Given the description of an element on the screen output the (x, y) to click on. 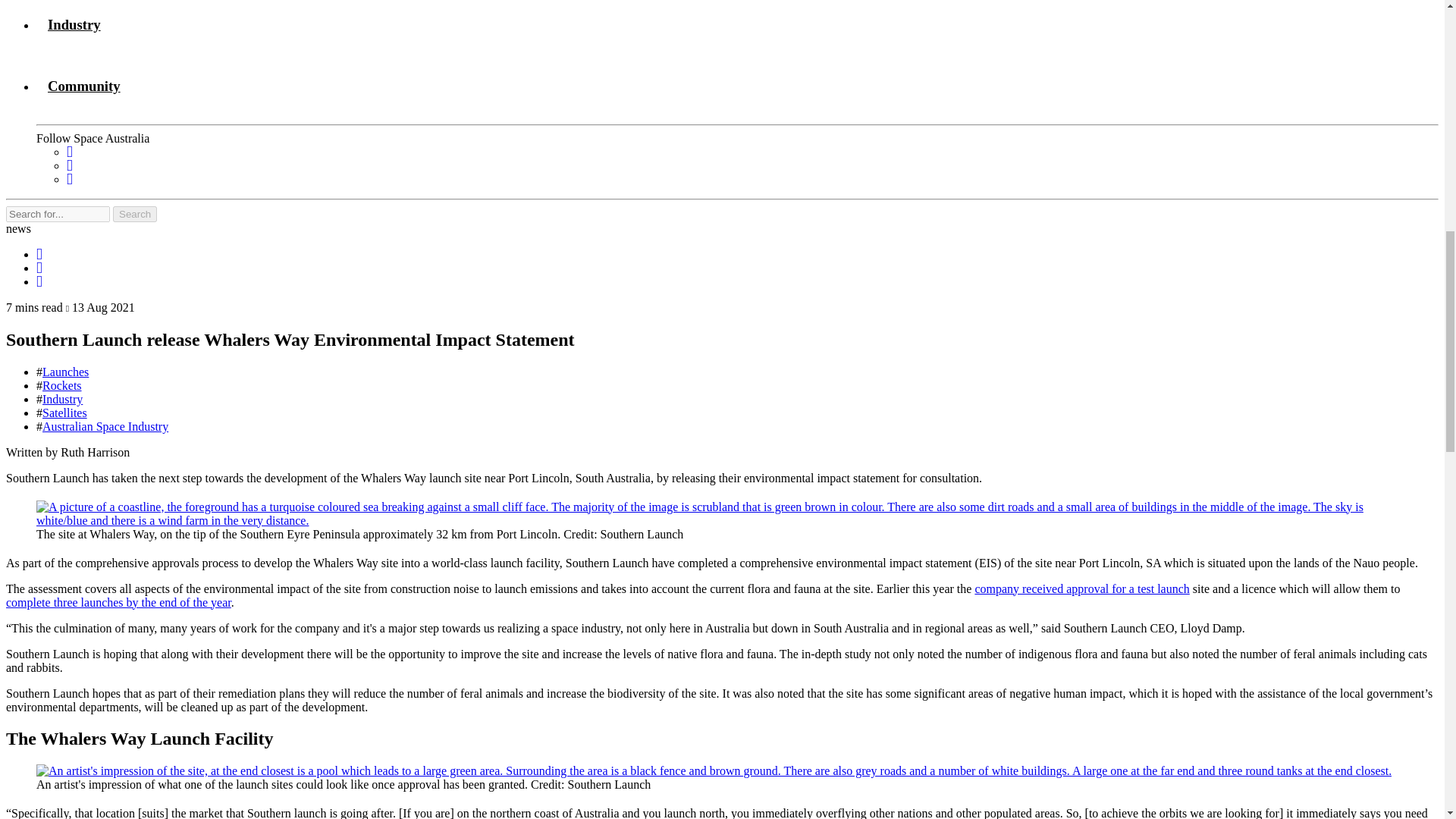
Australian Space Industry (105, 426)
Satellites (64, 412)
Launches (65, 371)
Rockets (61, 385)
Search (135, 213)
Industry (62, 399)
Enter the terms you wish to search for. (57, 213)
complete three launches by the end of the year (118, 602)
company received approval for a test launch (1081, 588)
